Given the description of an element on the screen output the (x, y) to click on. 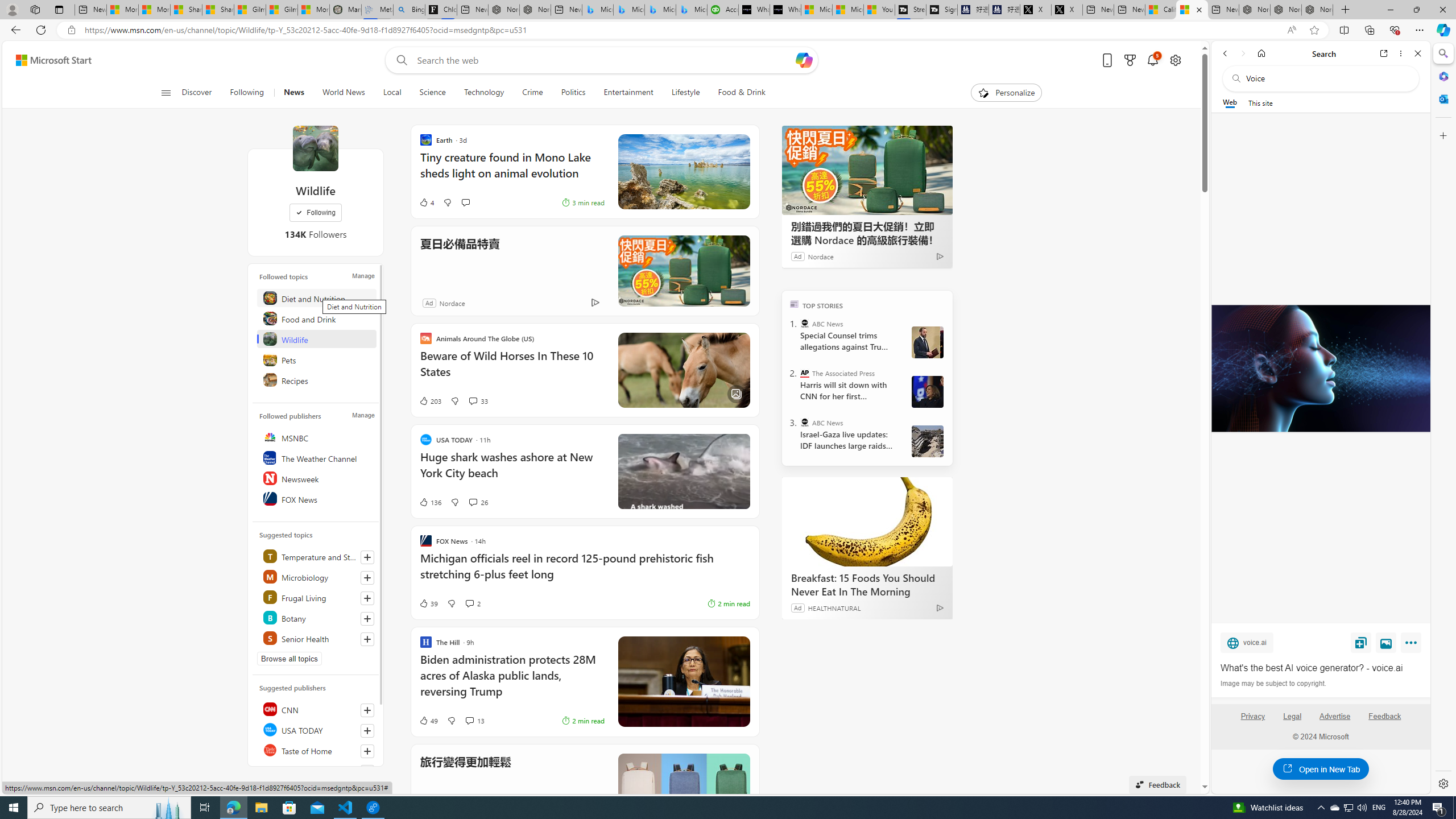
CNN (317, 709)
Gilma and Hector both pose tropical trouble for Hawaii (281, 9)
Privacy (1252, 720)
Food & Drink (737, 92)
Lifestyle (685, 92)
ABC News (804, 422)
View comments 26 Comment (477, 502)
Food and Drink (317, 318)
